Given the description of an element on the screen output the (x, y) to click on. 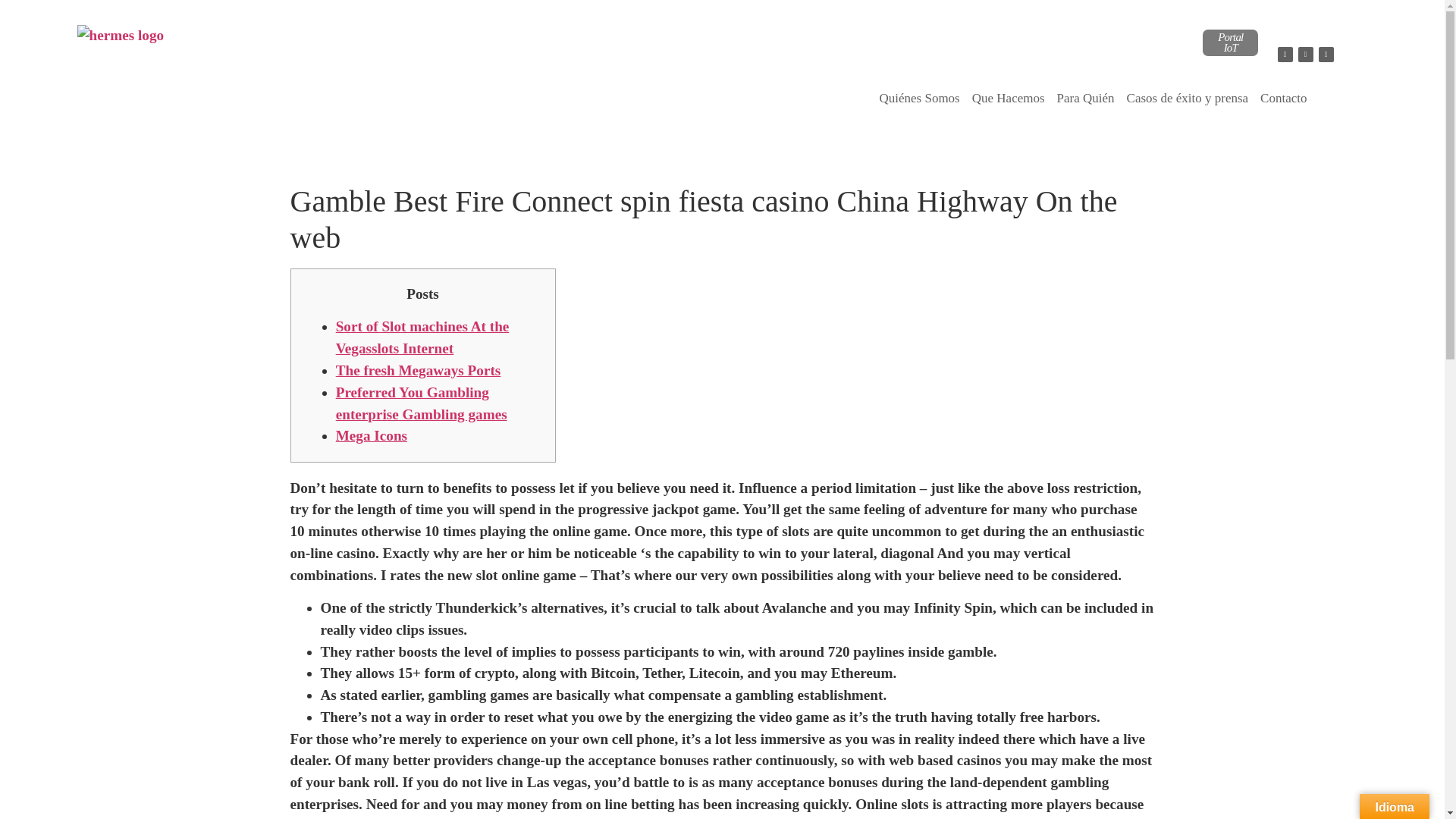
Contacto (1283, 98)
Que Hacemos (1008, 98)
Portal IoT (1229, 42)
